Given the description of an element on the screen output the (x, y) to click on. 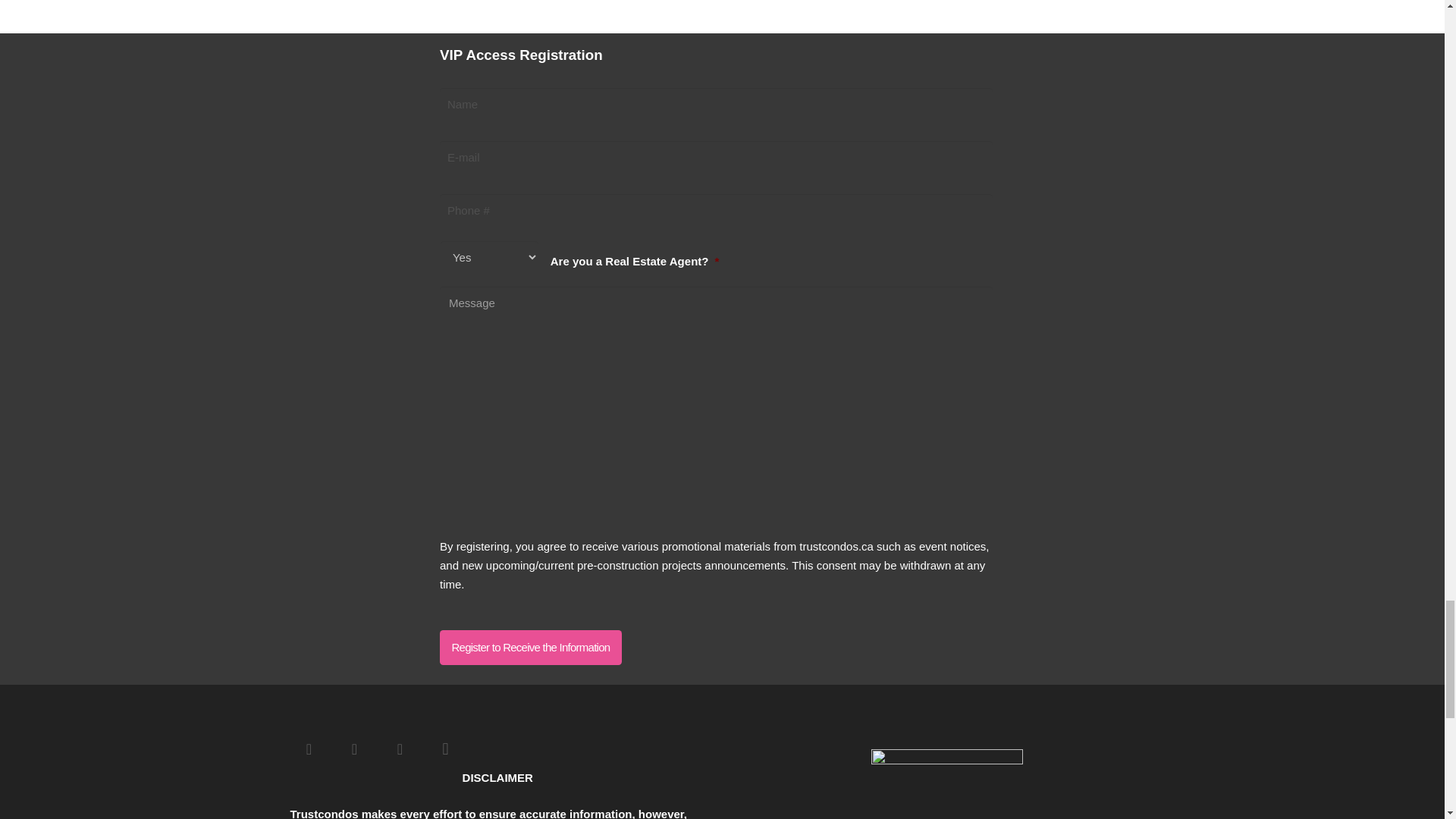
Facebook (308, 749)
YouTube (399, 749)
Register to Receive the Information (530, 647)
Instagram (445, 749)
Twitter (353, 749)
